Given the description of an element on the screen output the (x, y) to click on. 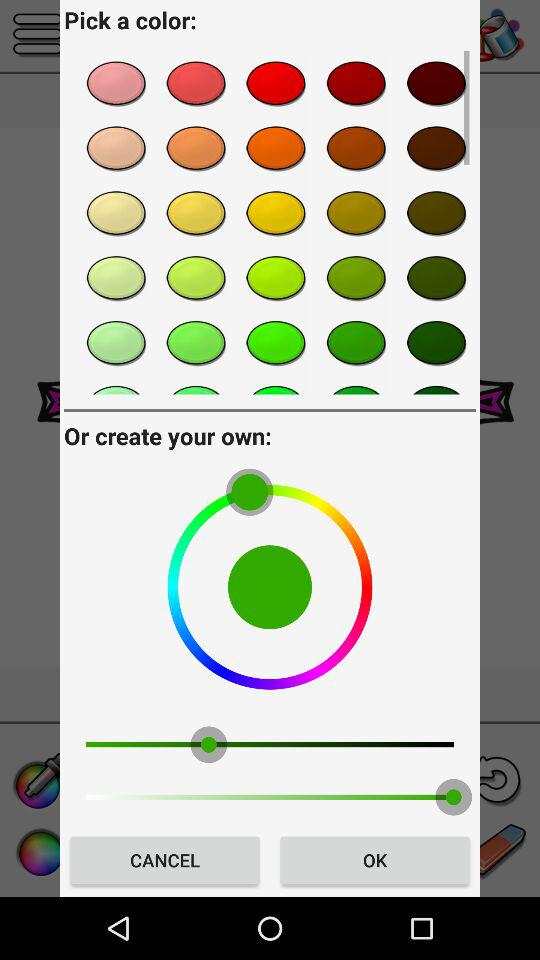
scroll to the cancel item (164, 859)
